Given the description of an element on the screen output the (x, y) to click on. 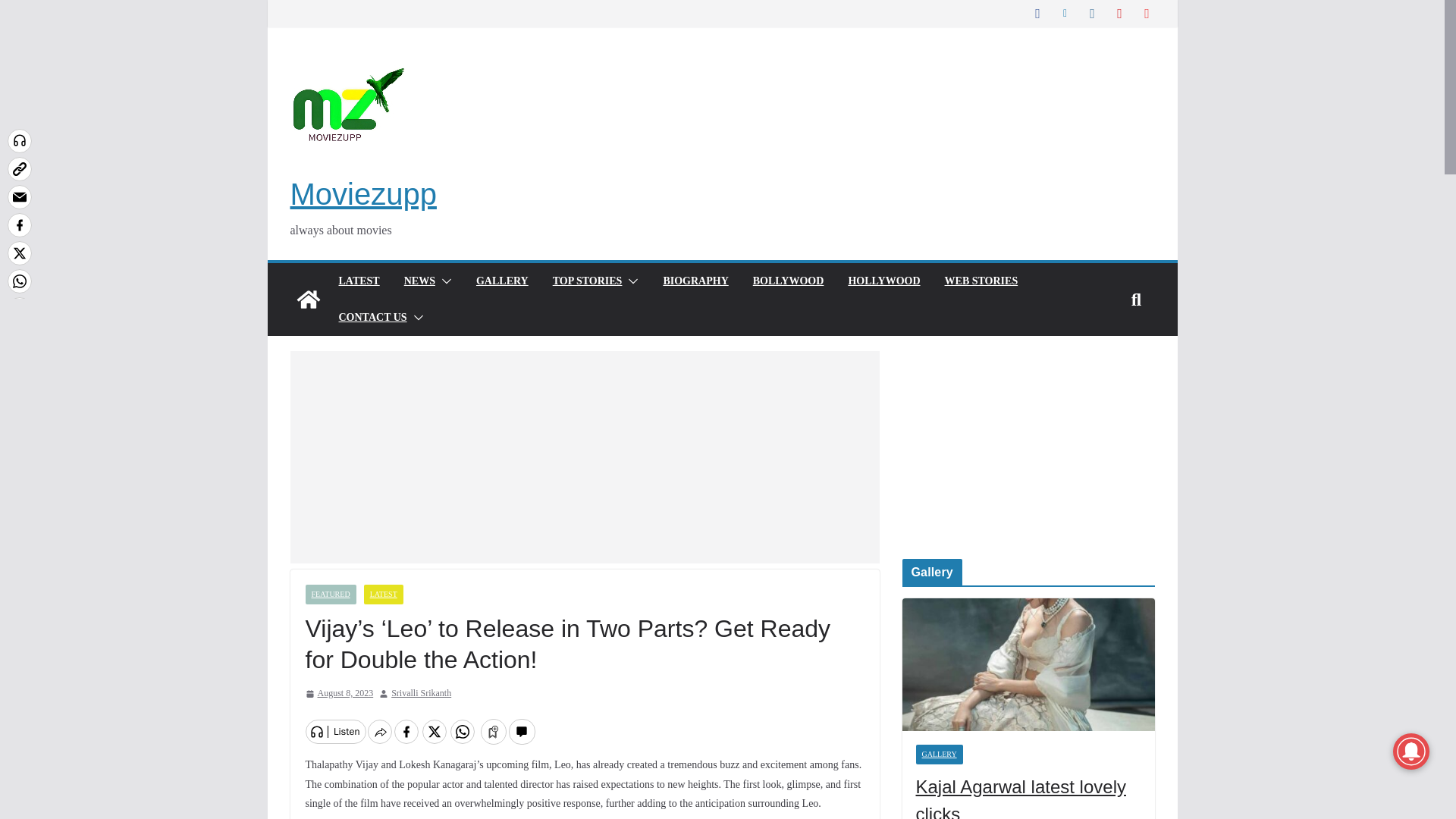
Advertisement (584, 457)
BIOGRAPHY (695, 281)
WEB STORIES (980, 281)
Moviezupp (307, 299)
CONTACT US (371, 317)
Moviezupp (362, 193)
BOLLYWOOD (788, 281)
FEATURED (329, 594)
Srivalli Srikanth (421, 693)
HOLLYWOOD (883, 281)
August 8, 2023 (338, 693)
Srivalli Srikanth (421, 693)
Moviezupp (362, 193)
TOP STORIES (588, 281)
9:38 PM (338, 693)
